Given the description of an element on the screen output the (x, y) to click on. 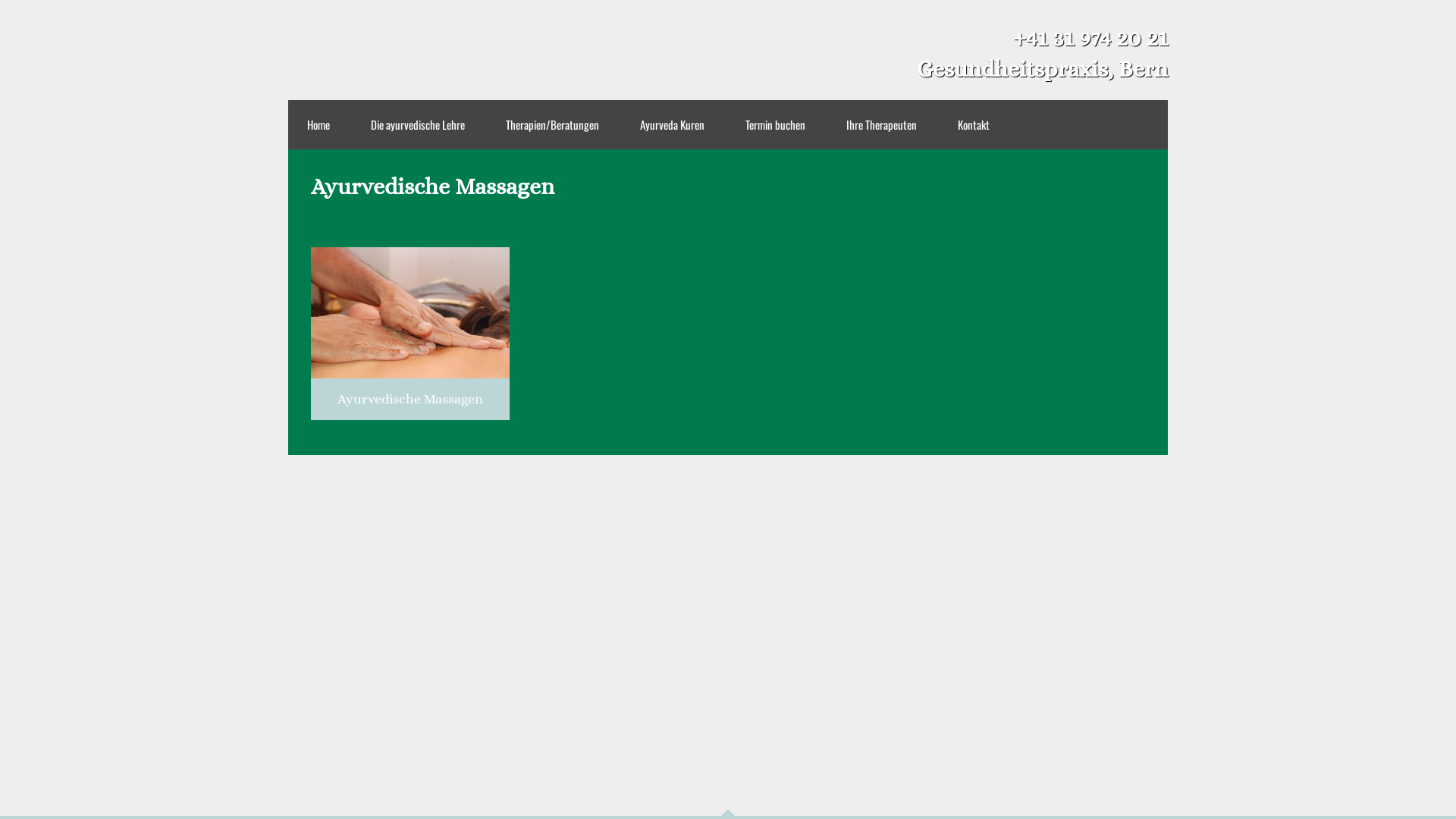
Ayurveda Kuren Element type: text (672, 124)
Ihre Therapeuten Element type: text (881, 124)
Ayurvedische Massagen Element type: text (409, 333)
Therapien/Beratungen Element type: text (552, 124)
Die ayurvedische Lehre Element type: text (417, 124)
Kontakt Element type: text (973, 124)
Home Element type: text (318, 124)
+41 31 974 20 21 Element type: text (1090, 37)
Termin buchen Element type: text (775, 124)
